Given the description of an element on the screen output the (x, y) to click on. 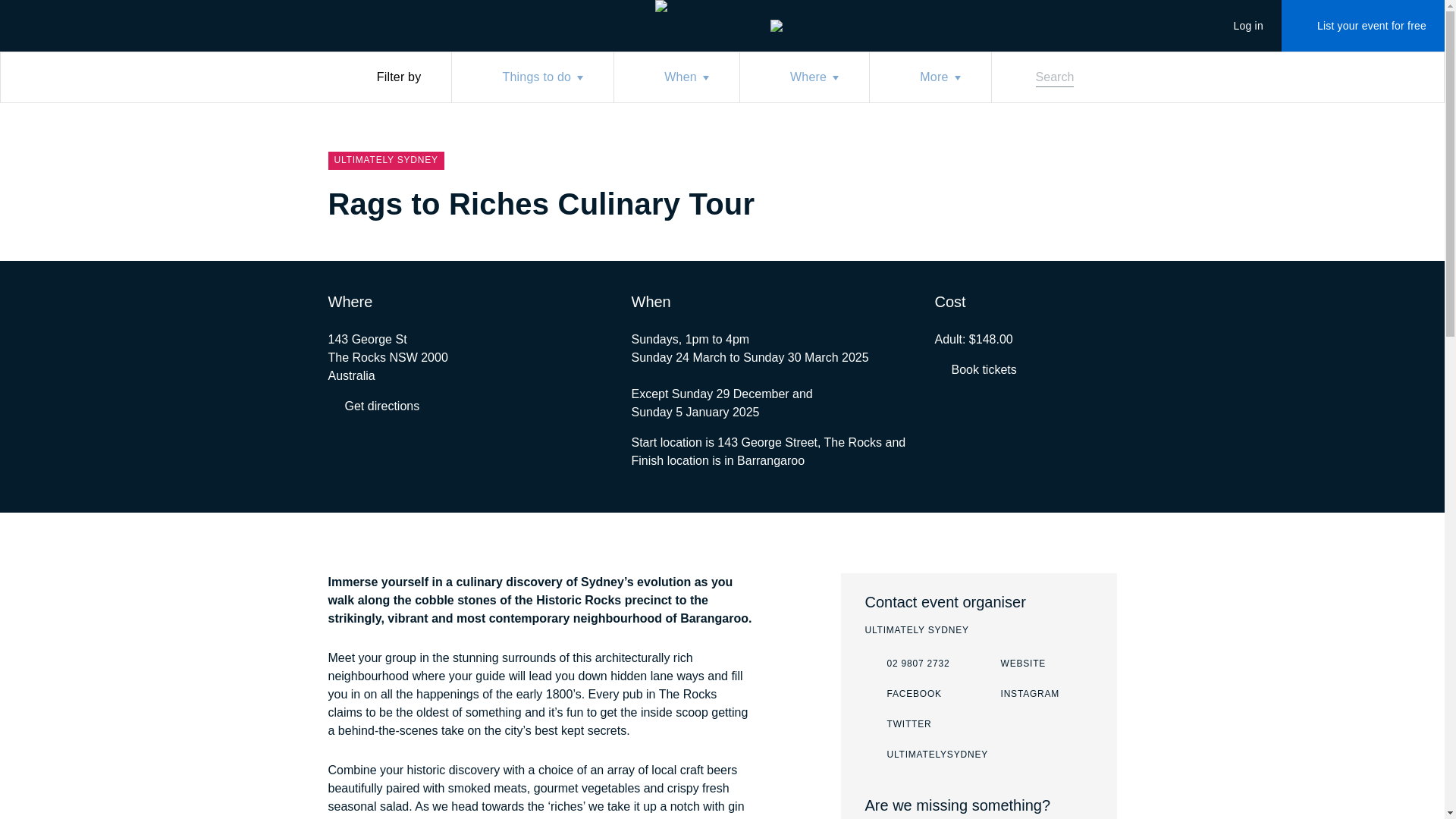
Search (1045, 77)
Share on Facebook (1045, 206)
Things to do (531, 77)
Log in (1239, 25)
Get directions (373, 406)
Where (1018, 694)
Share on Twitter (804, 77)
More (897, 724)
Book tickets (1076, 206)
Copy this link (906, 664)
When (929, 77)
